Given the description of an element on the screen output the (x, y) to click on. 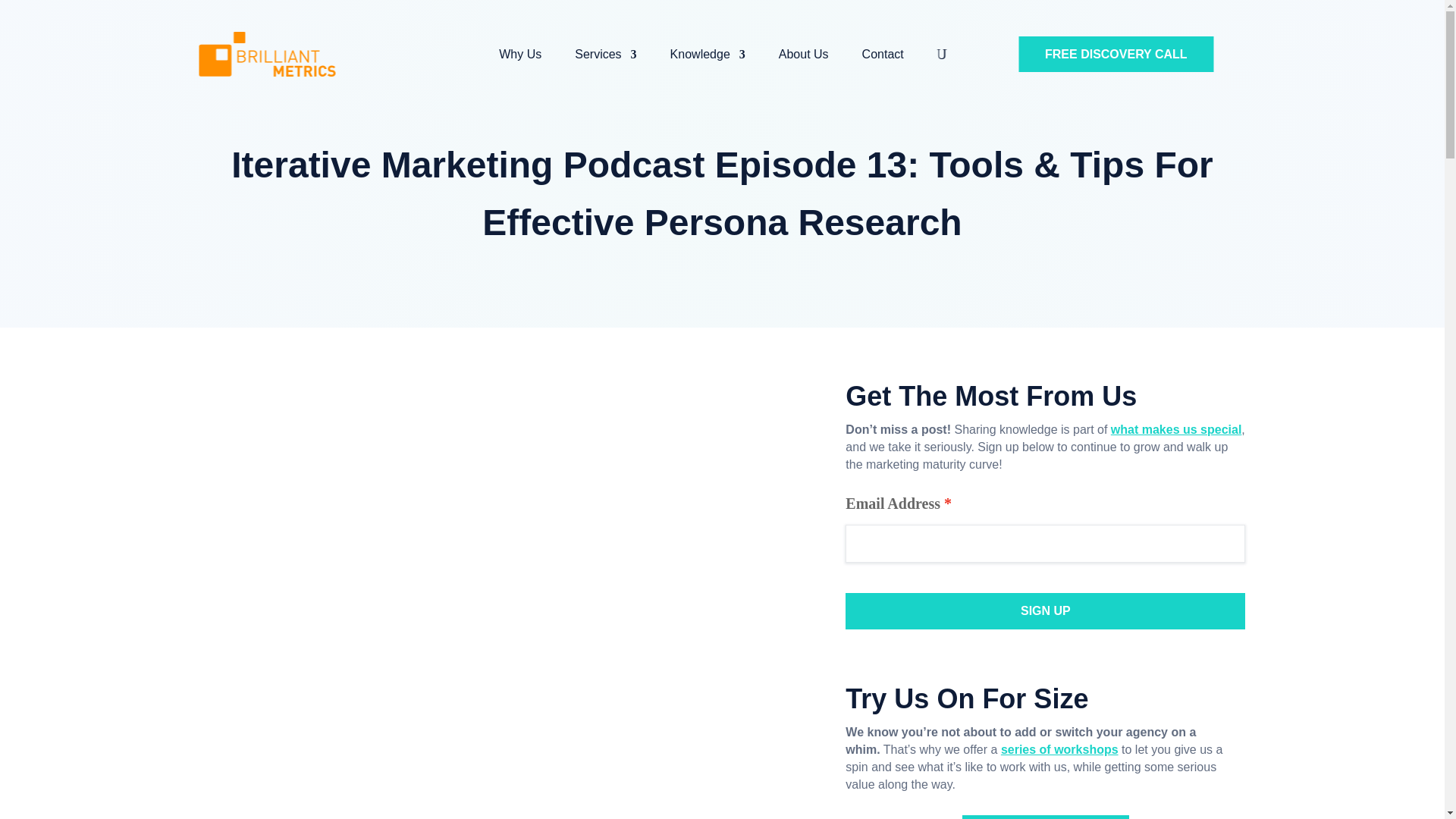
Contact (882, 56)
logo (266, 53)
FREE DISCOVERY CALL (1115, 54)
Services (605, 56)
Knowledge (707, 56)
Why Us (520, 56)
About Us (803, 56)
